Given the description of an element on the screen output the (x, y) to click on. 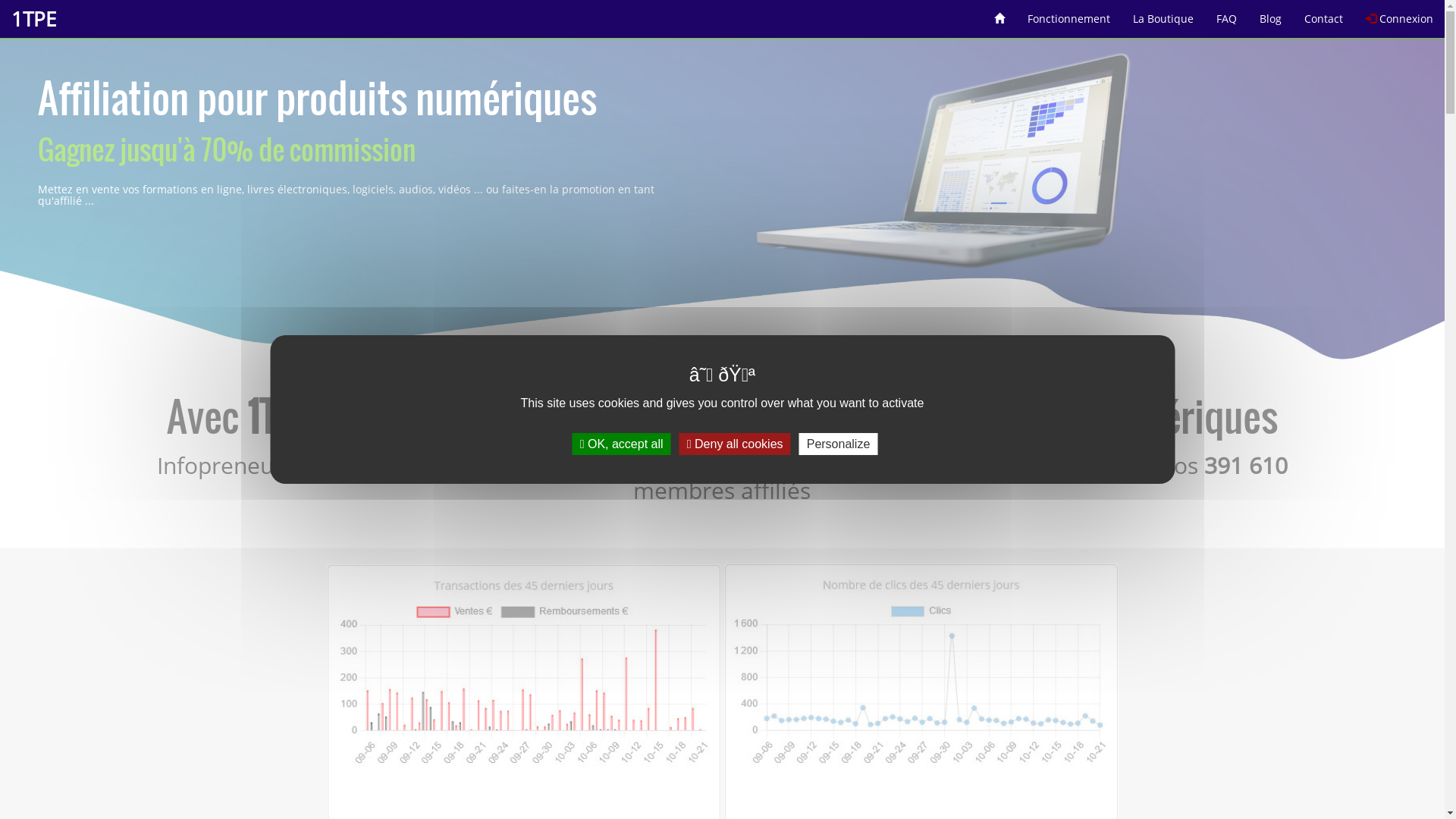
FAQ Element type: text (1226, 13)
Contact Element type: text (1323, 13)
Blog Element type: text (1270, 13)
Personalize Element type: text (838, 444)
Deny all cookies Element type: text (734, 444)
1TPE Element type: text (33, 18)
Fonctionnement Element type: text (1068, 13)
Connexion Element type: text (1399, 13)
OK, accept all Element type: text (621, 444)
La Boutique Element type: text (1162, 13)
